Given the description of an element on the screen output the (x, y) to click on. 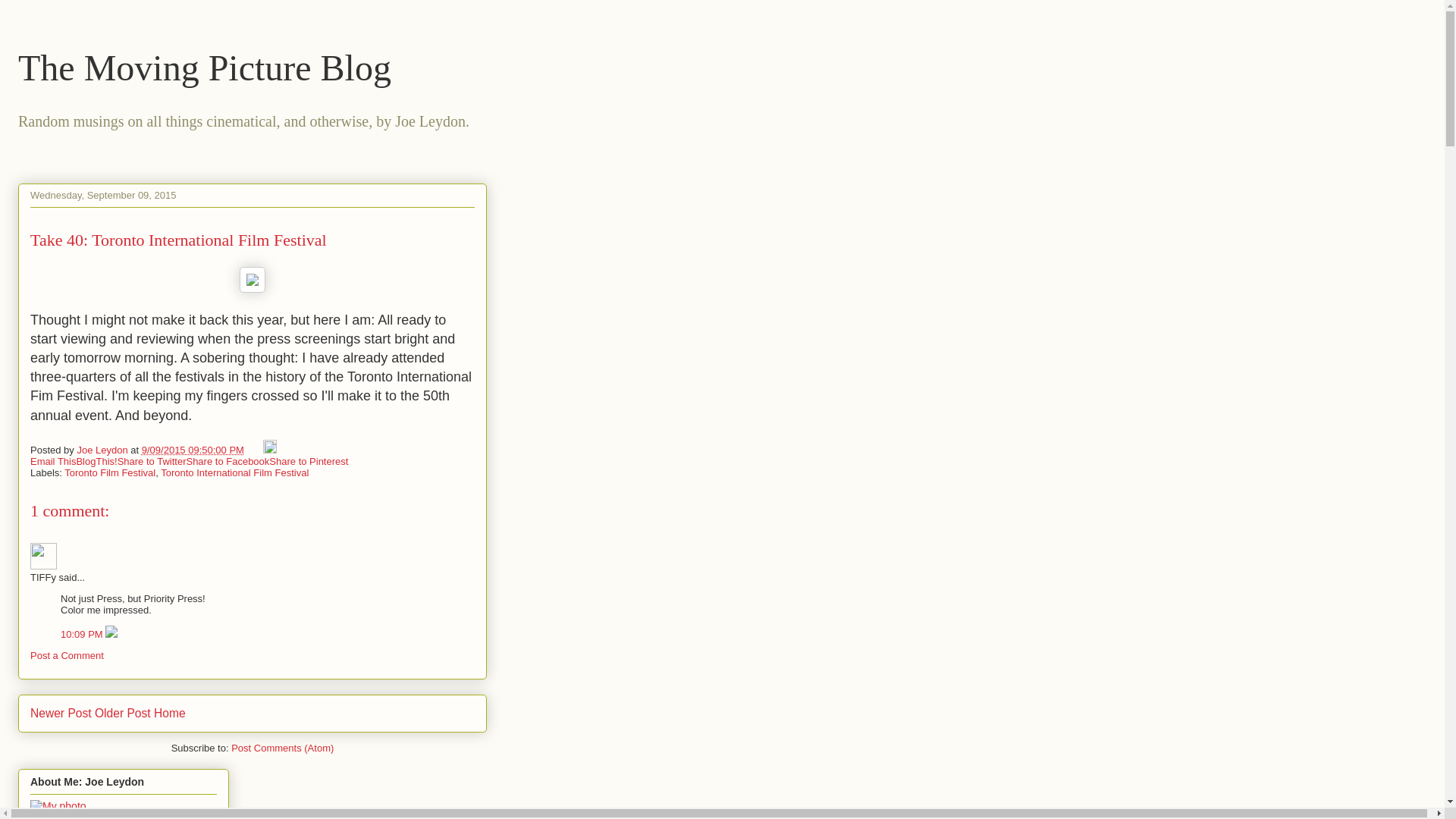
Edit Post (269, 449)
author profile (104, 449)
TIFFy (43, 555)
BlogThis! (95, 460)
BlogThis! (95, 460)
Email This (52, 460)
Share to Twitter (151, 460)
comment permalink (82, 633)
Share to Pinterest (308, 460)
Share to Pinterest (308, 460)
Newer Post (60, 712)
Toronto Film Festival (109, 472)
Post a Comment (66, 655)
Older Post (122, 712)
Delete Comment (110, 633)
